Given the description of an element on the screen output the (x, y) to click on. 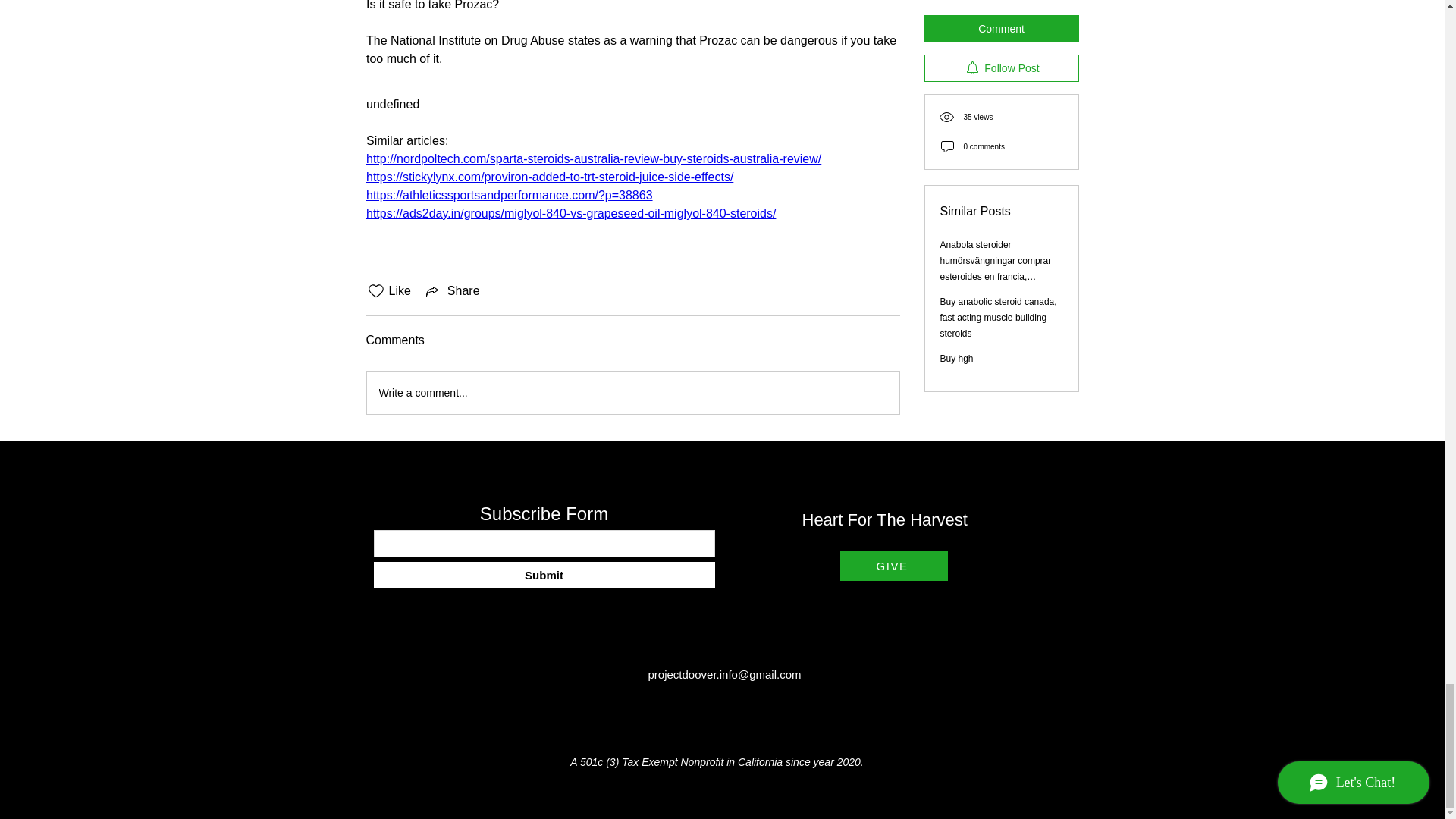
Write a comment... (632, 392)
Share (451, 290)
Submit (543, 574)
GIVE (893, 565)
